Given the description of an element on the screen output the (x, y) to click on. 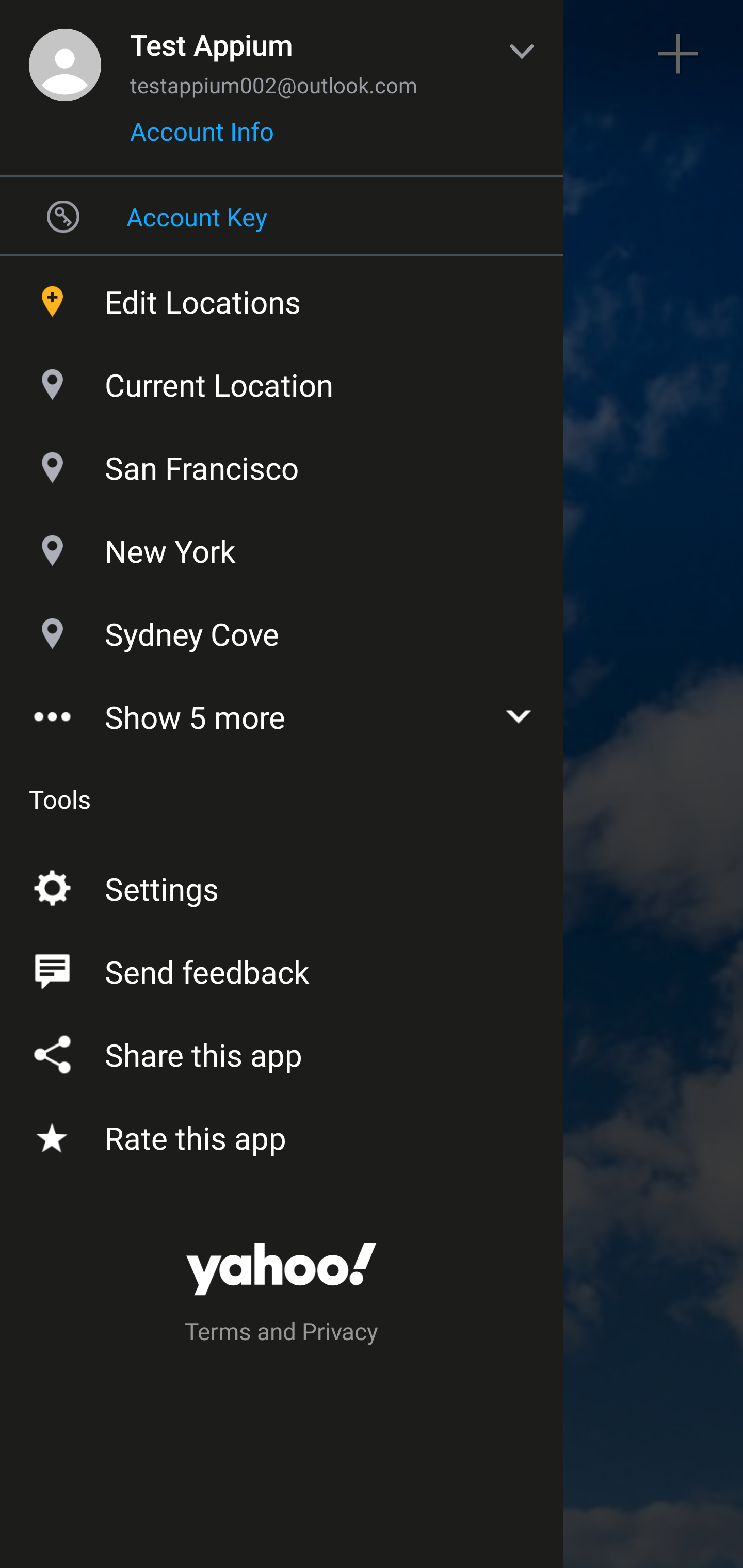
Sidebar (64, 54)
Account Info (202, 137)
Account Key (281, 216)
Edit Locations (281, 296)
Current Location (281, 379)
San Francisco (281, 462)
New York (281, 546)
Sydney Cove (281, 629)
Settings (281, 884)
Send feedback (281, 967)
Share this app (281, 1050)
Terms and Privacy Terms and privacy button (281, 1334)
